Given the description of an element on the screen output the (x, y) to click on. 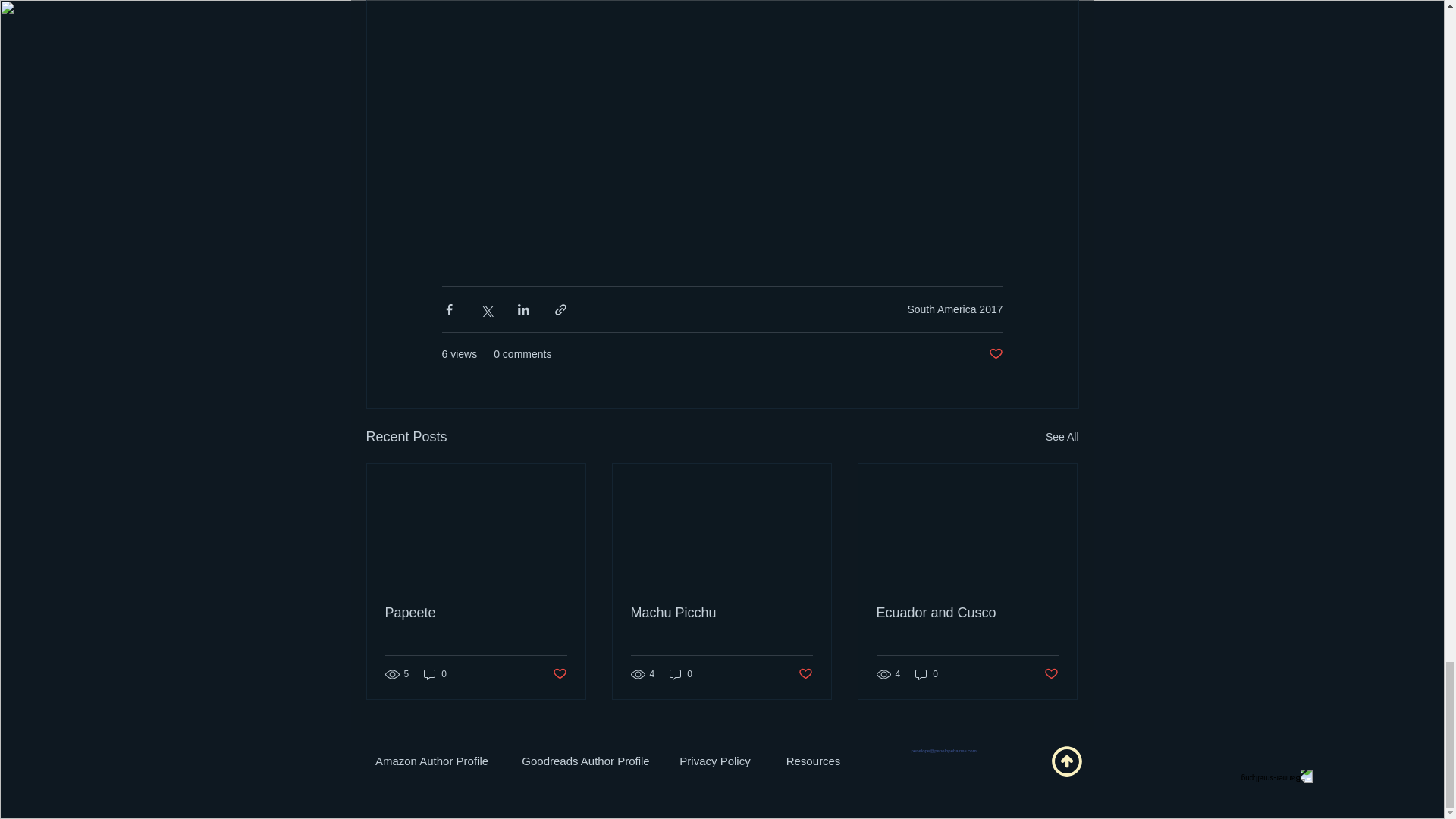
Machu Picchu (721, 612)
0 (435, 674)
0 (926, 674)
Papeete (476, 612)
Post not marked as liked (995, 354)
See All (1061, 436)
Post not marked as liked (804, 674)
South America 2017 (955, 309)
Ecuador and Cusco (967, 612)
0 (681, 674)
